Given the description of an element on the screen output the (x, y) to click on. 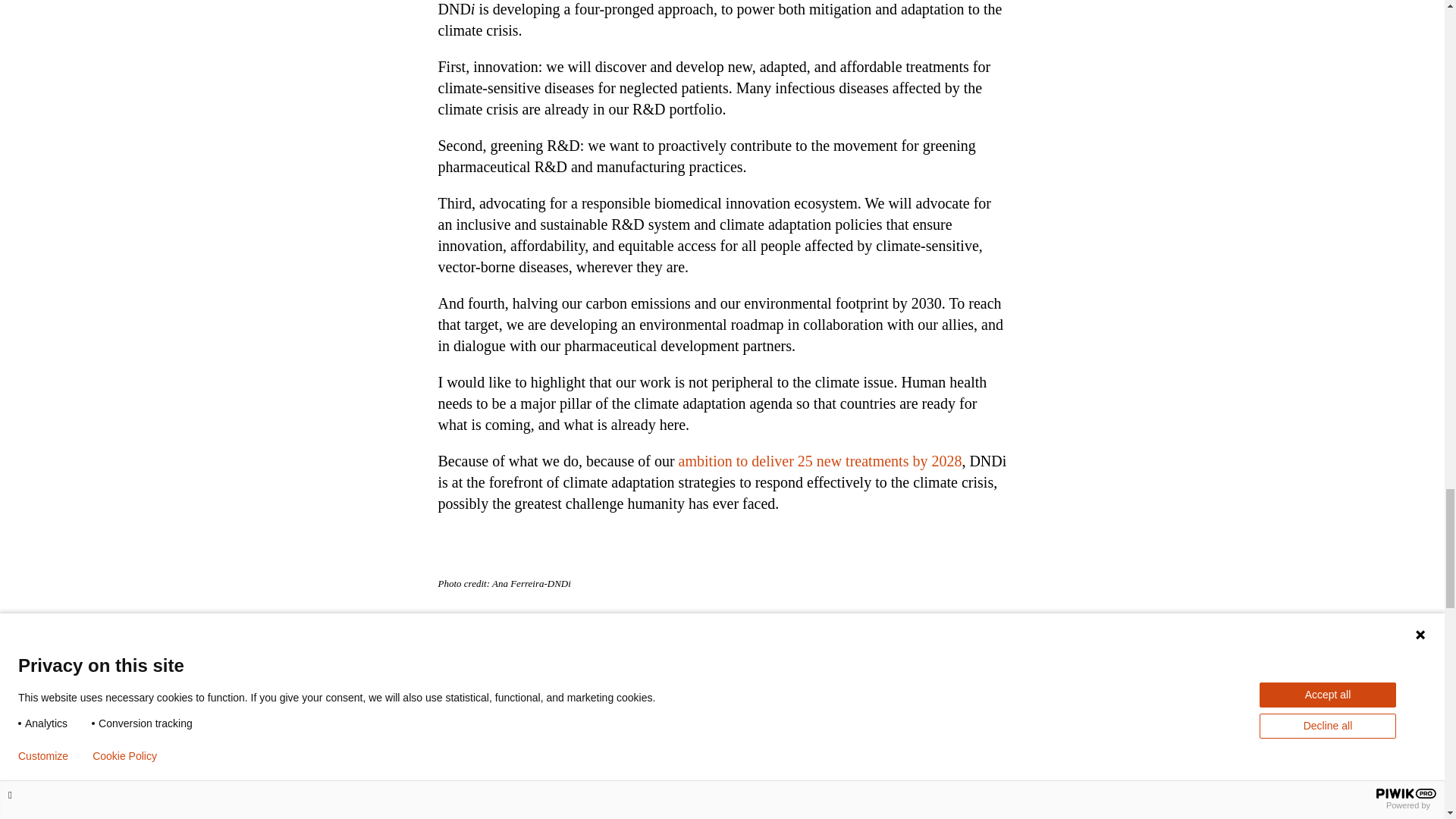
Strategy (820, 460)
